Given the description of an element on the screen output the (x, y) to click on. 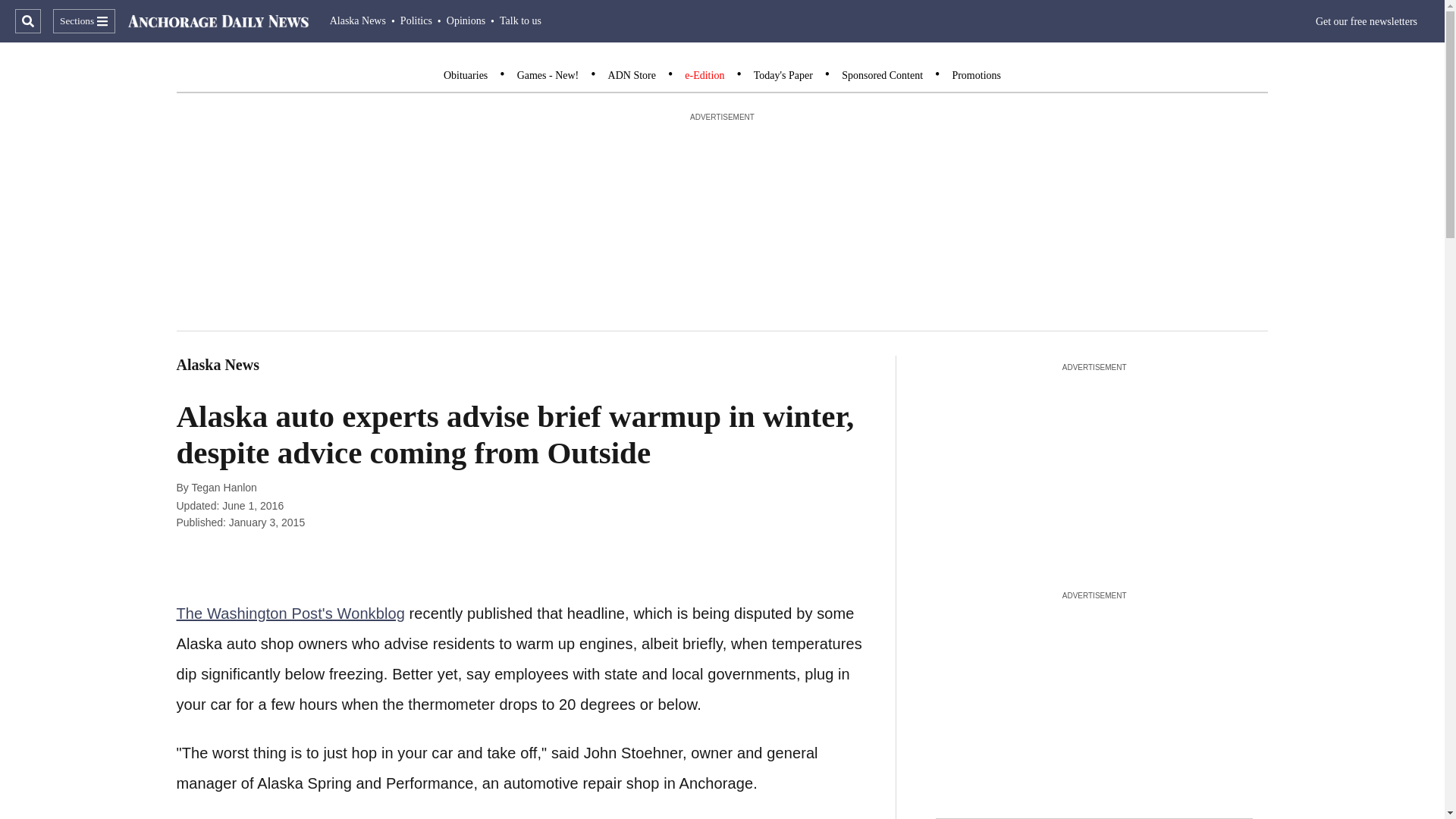
ADN Logo (218, 20)
Politics (416, 20)
Get our free newsletters (1366, 21)
Alaska News (357, 20)
Sections (83, 21)
Opinions (465, 20)
